Given the description of an element on the screen output the (x, y) to click on. 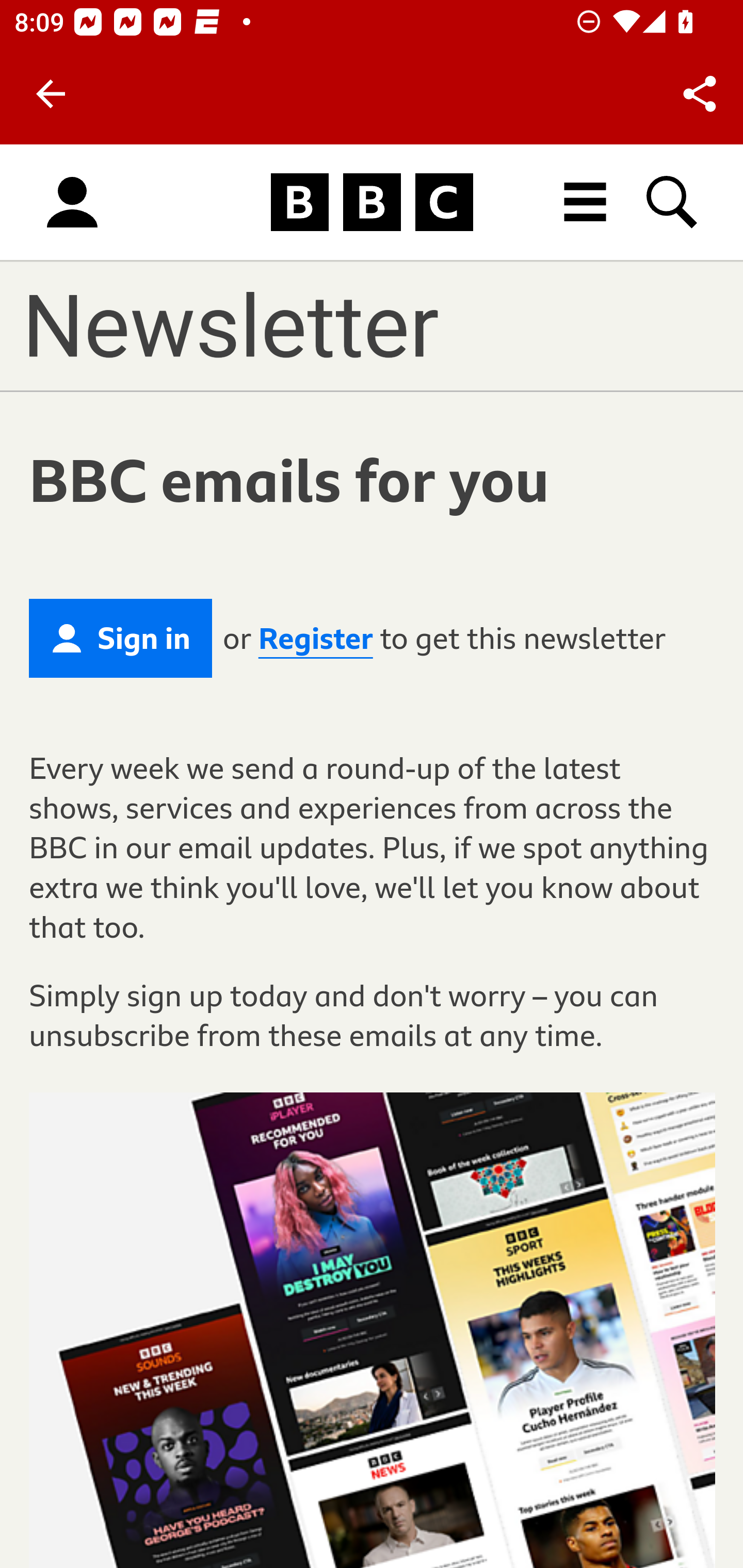
Back (50, 93)
Share (699, 93)
All BBC destinations menu (585, 202)
Search BBC (672, 202)
Sign in (71, 203)
Homepage (371, 203)
NEWSLETTERS (312, 325)
Sign in (120, 637)
Register (314, 638)
